Given the description of an element on the screen output the (x, y) to click on. 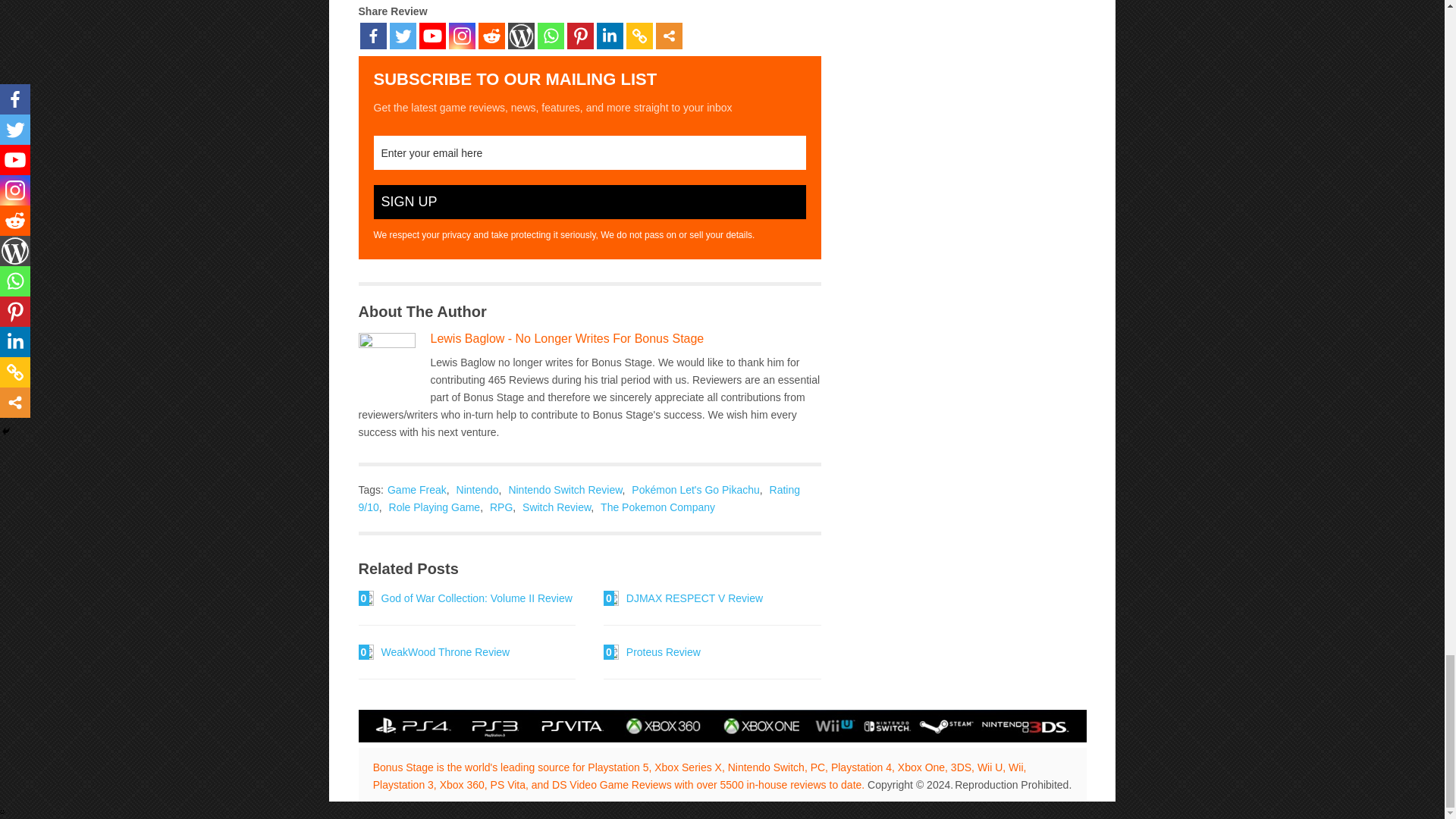
Sign Up (588, 202)
